Given the description of an element on the screen output the (x, y) to click on. 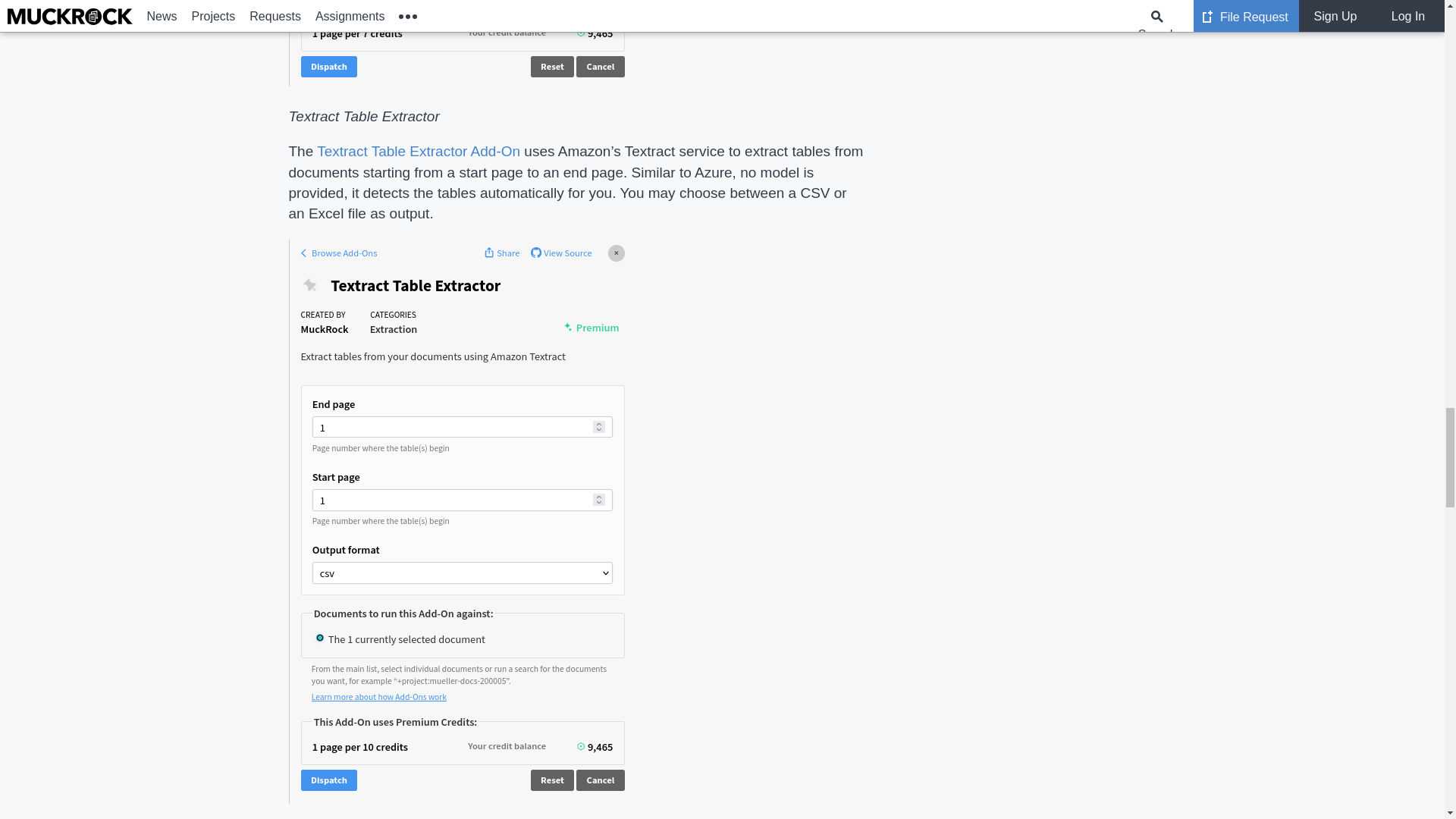
Textract Table Extractor Add-On (418, 150)
